Given the description of an element on the screen output the (x, y) to click on. 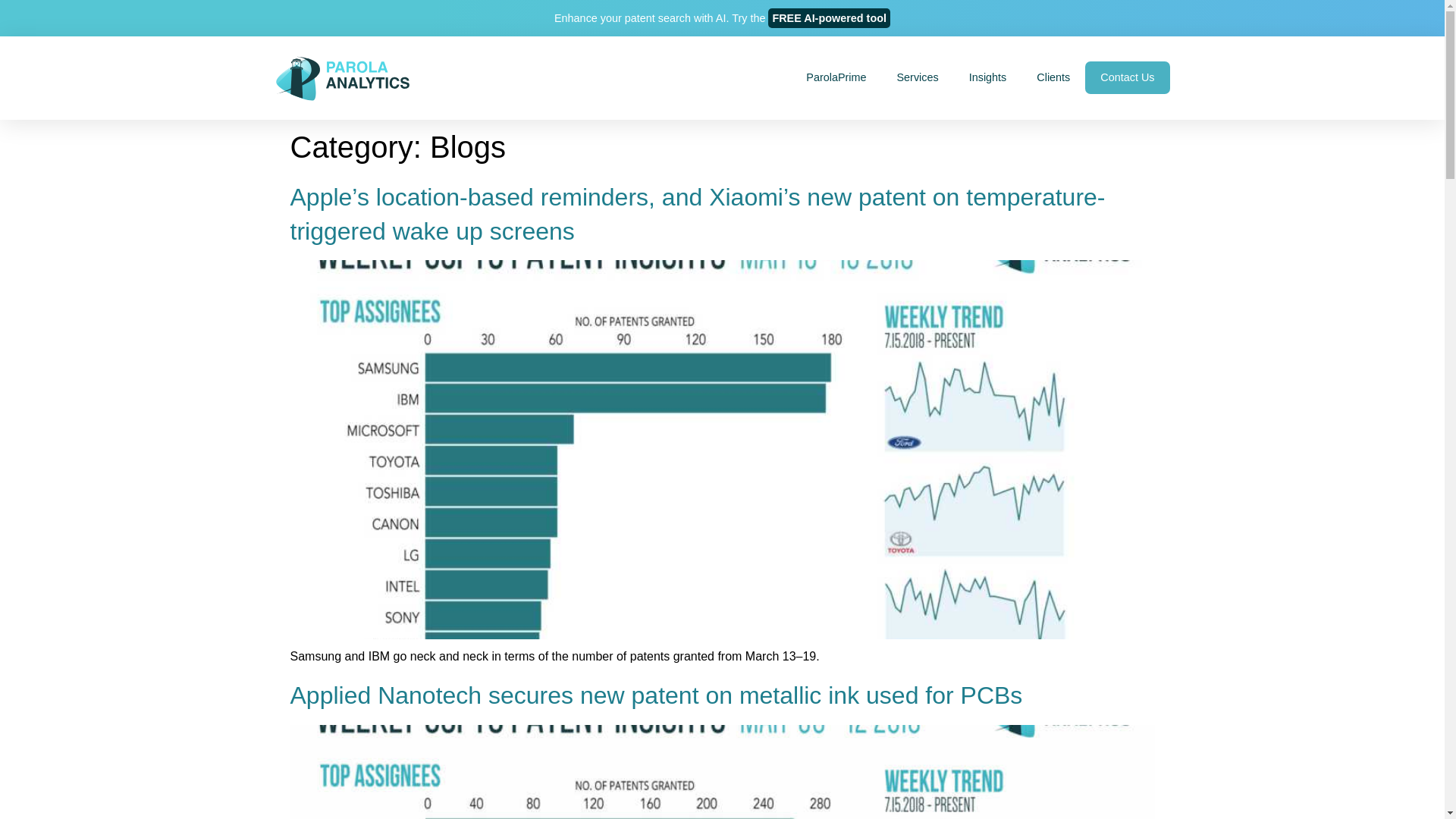
Contact Us (1126, 77)
ParolaPrime (835, 77)
FREE AI-powered tool (828, 17)
Services (917, 77)
Insights (987, 77)
Clients (1053, 77)
